Given the description of an element on the screen output the (x, y) to click on. 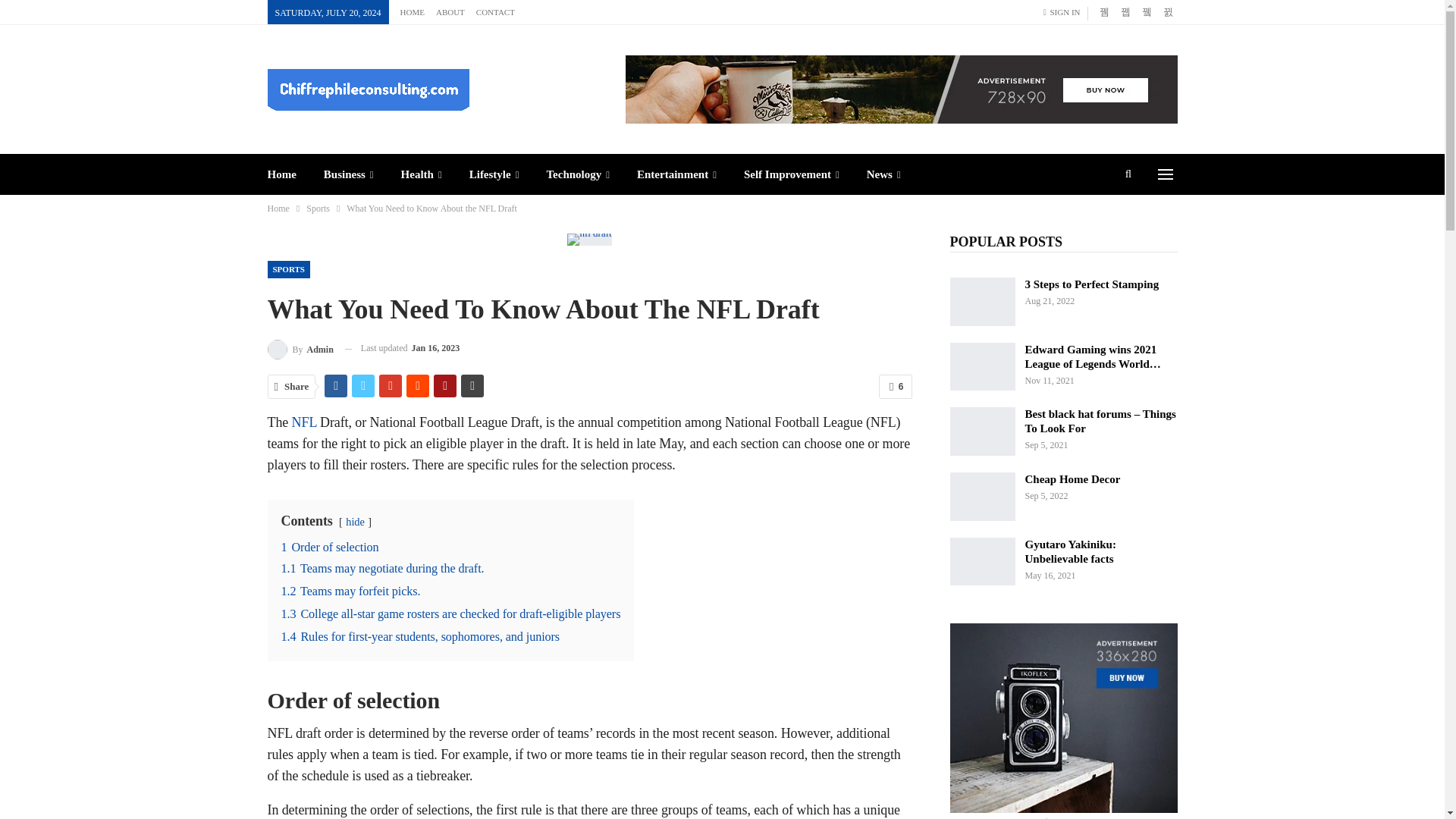
3 Steps to Perfect Stamping (981, 301)
HOME (412, 11)
Browse Author Articles (299, 348)
Edward Gaming wins 2021 League of Legends World Championship (981, 367)
Health (421, 173)
Technology (578, 173)
SIGN IN (1064, 12)
Business (348, 173)
Lifestyle (493, 173)
CONTACT (495, 11)
ABOUT (449, 11)
